Given the description of an element on the screen output the (x, y) to click on. 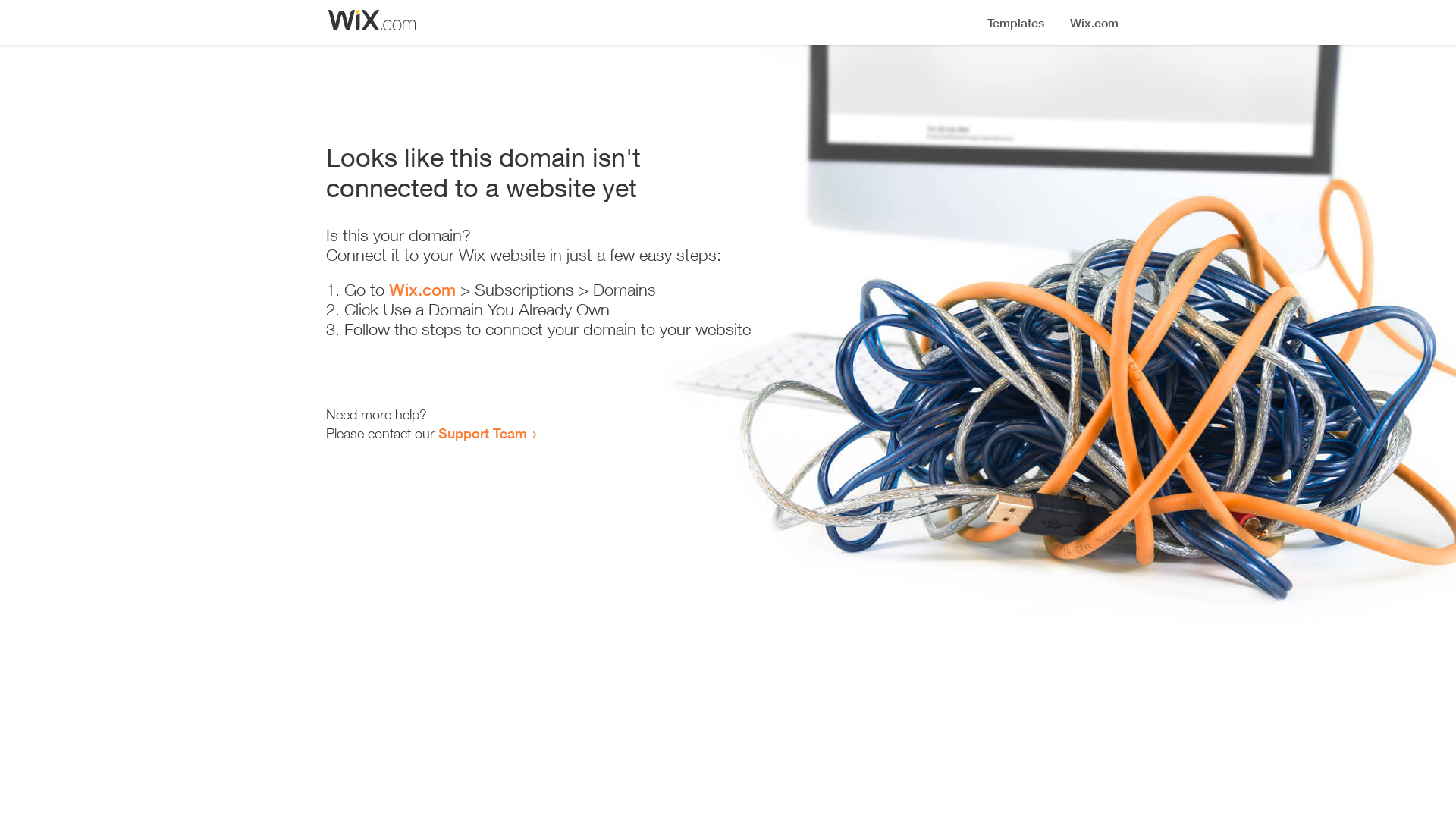
Support Team Element type: text (482, 432)
Wix.com Element type: text (422, 289)
